Given the description of an element on the screen output the (x, y) to click on. 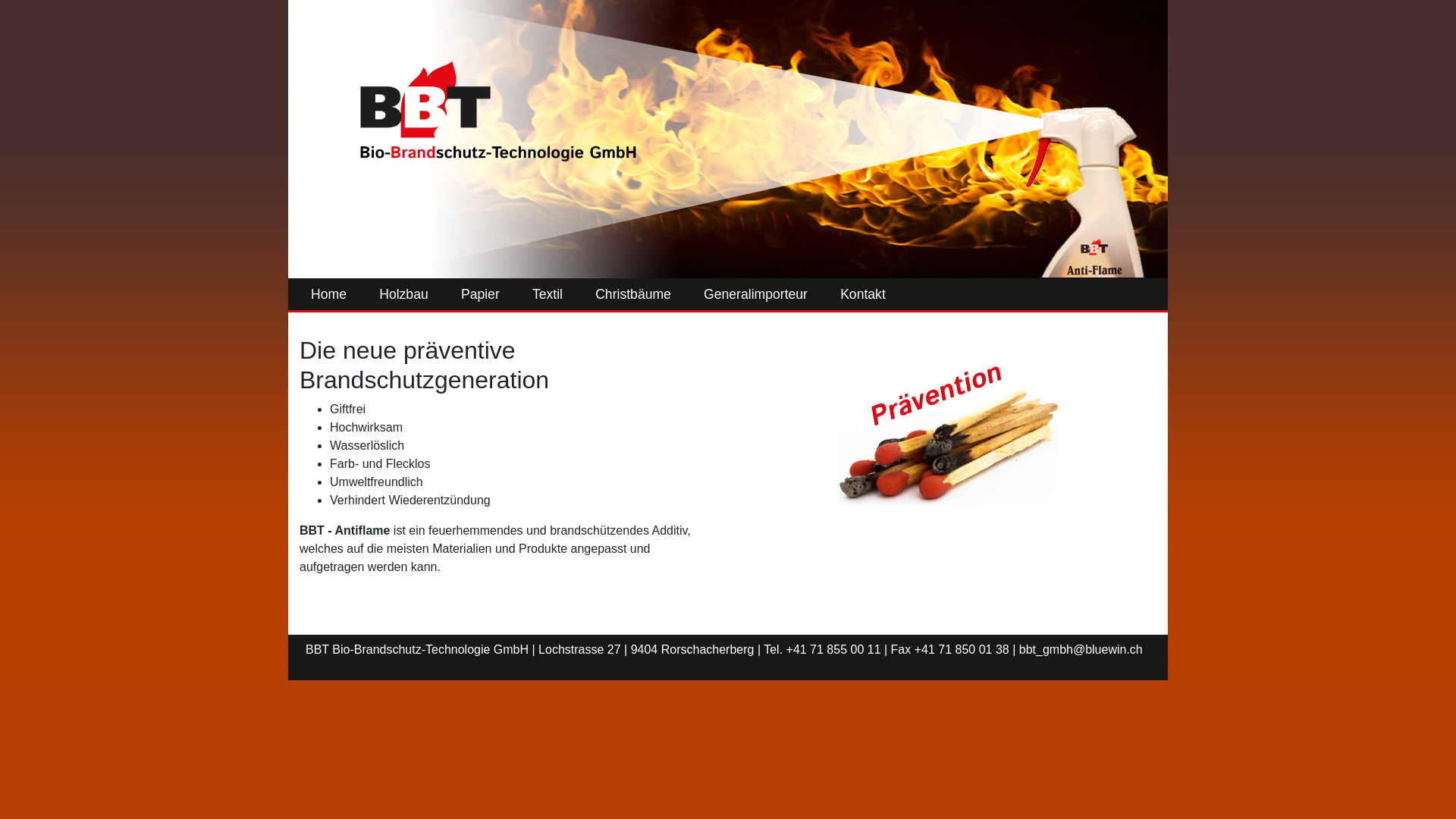
Holzbau Element type: text (403, 294)
Textil Element type: text (547, 294)
Papier Element type: text (480, 294)
Kontakt Element type: text (862, 294)
BBT Bio-Brandschutz-Technologie GmbH Element type: hover (487, 103)
Generalimporteur Element type: text (755, 294)
Home Element type: text (328, 294)
